Given the description of an element on the screen output the (x, y) to click on. 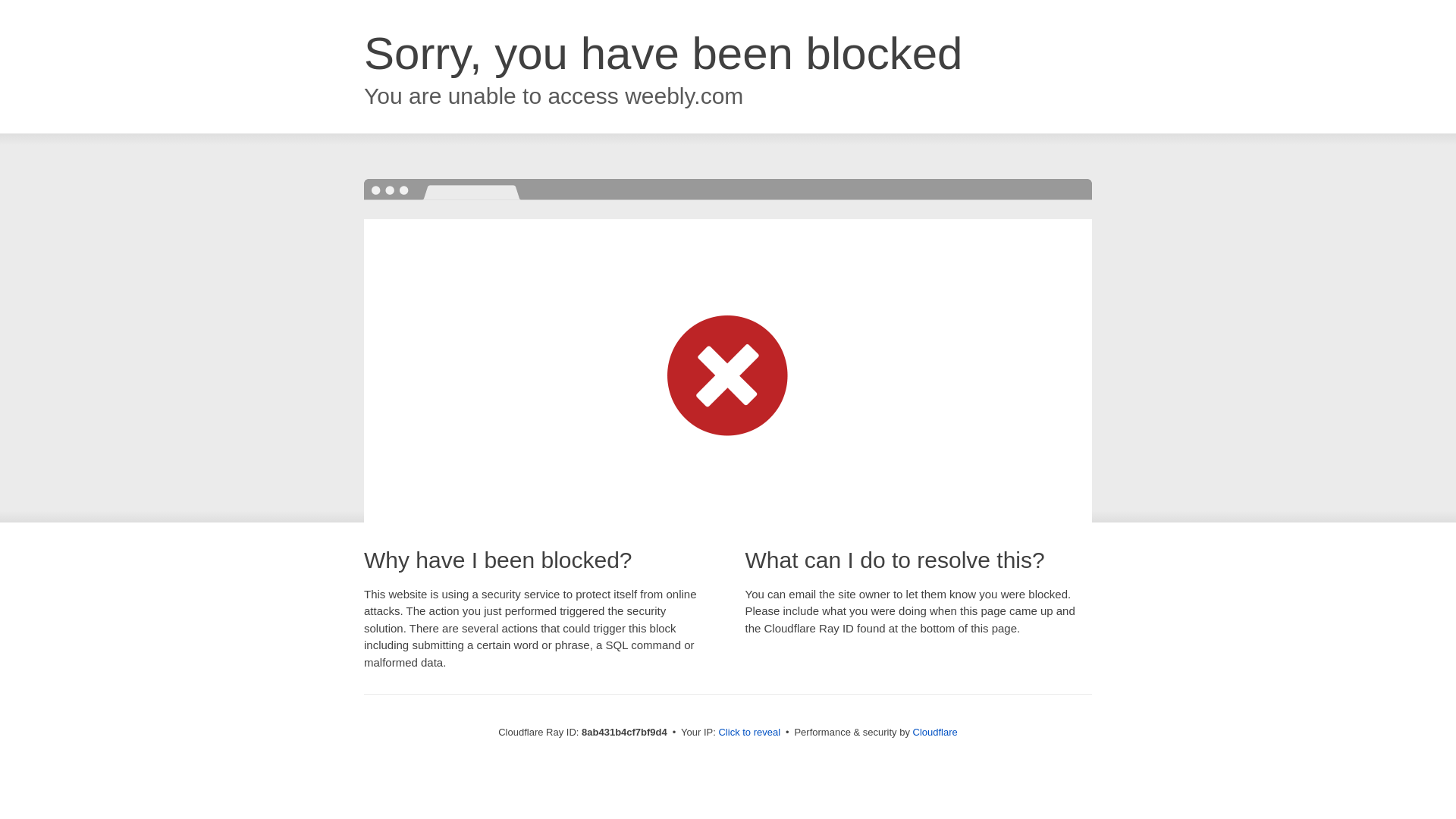
Click to reveal (748, 732)
Cloudflare (935, 731)
